Given the description of an element on the screen output the (x, y) to click on. 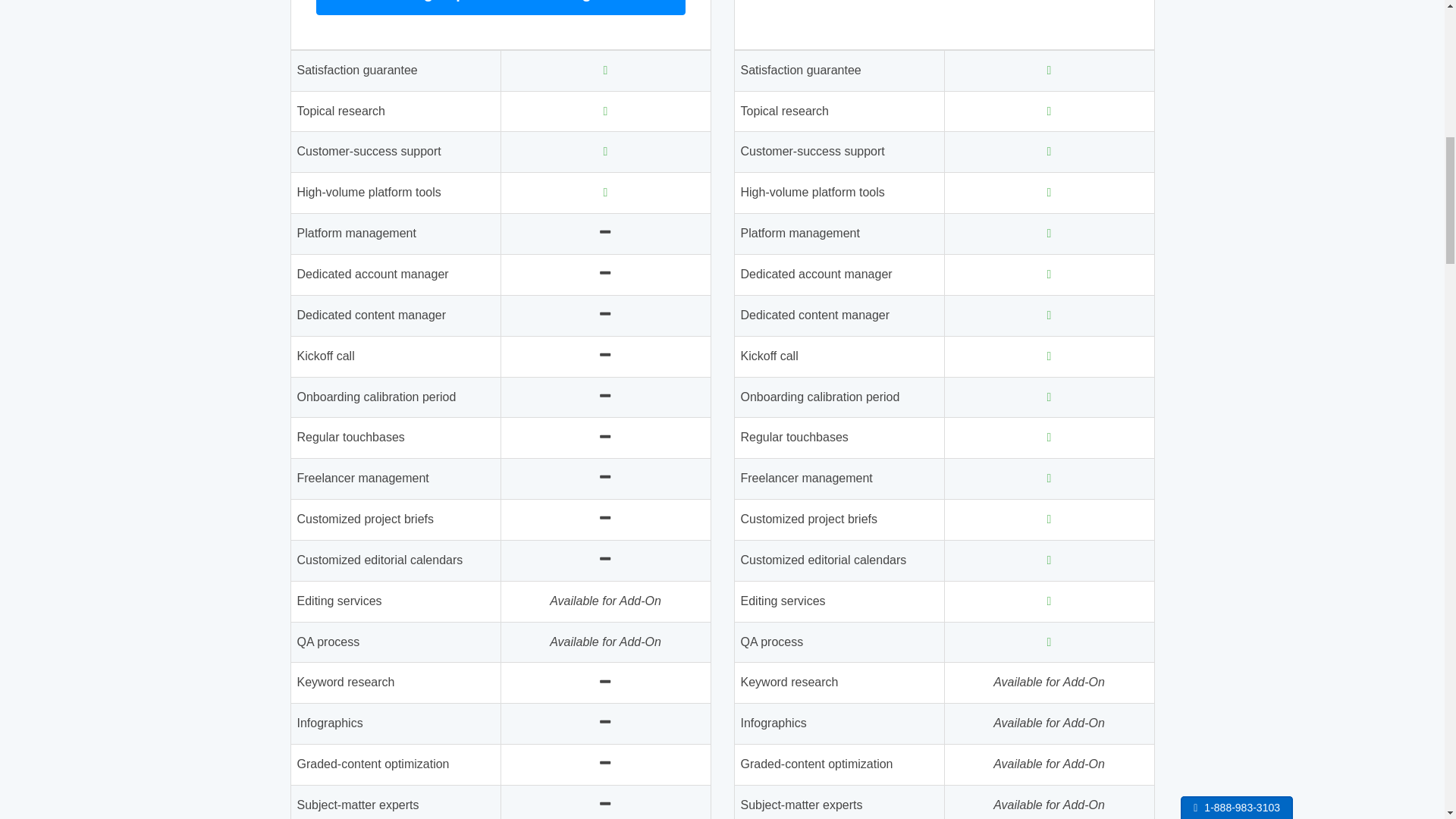
Sign Up to View all Pricing (499, 7)
